Given the description of an element on the screen output the (x, y) to click on. 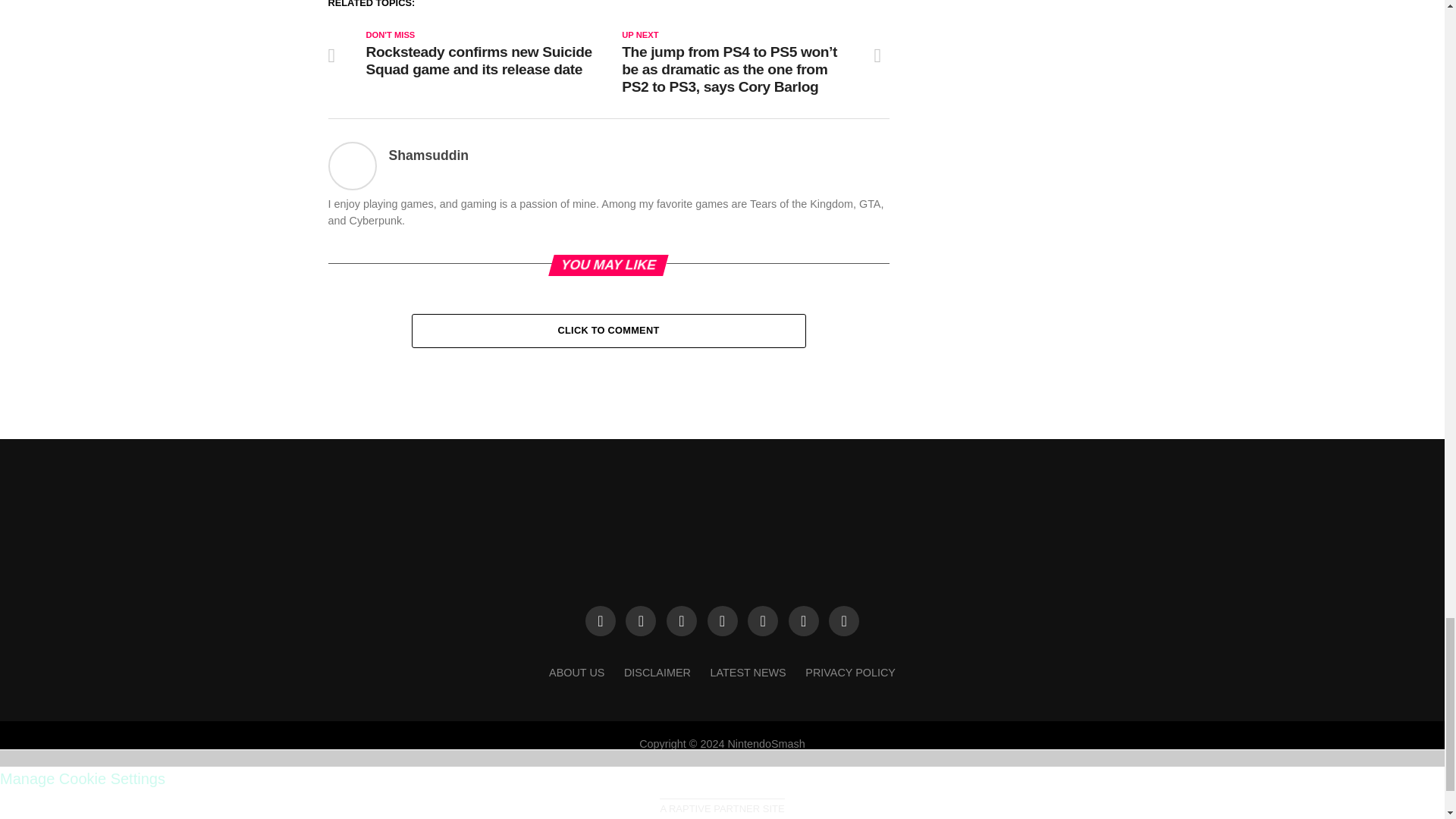
Posts by Shamsuddin (428, 155)
